Given the description of an element on the screen output the (x, y) to click on. 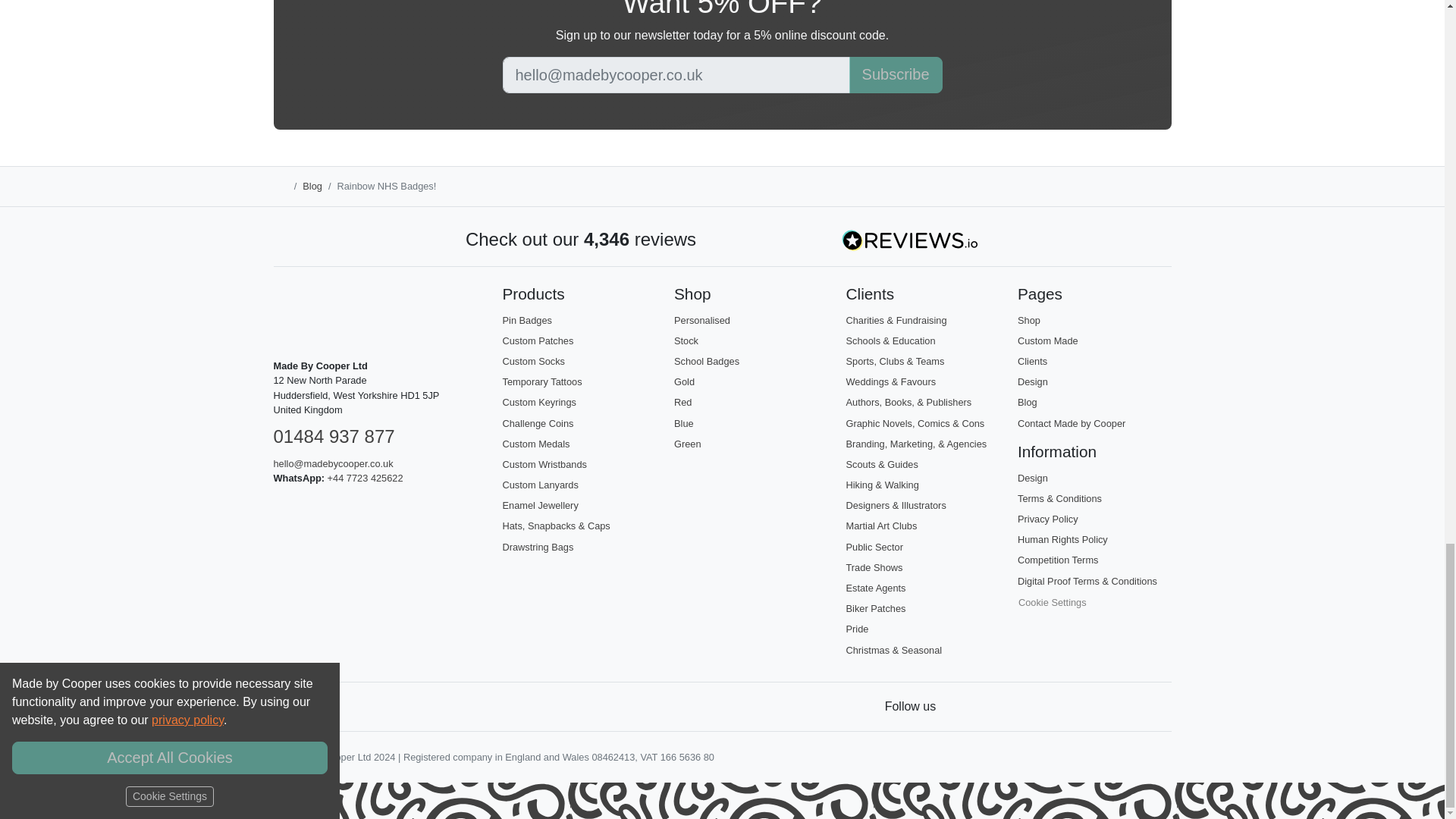
Home (279, 185)
Visa Icon (319, 706)
Mastercard Icon (352, 706)
Pin Badges (526, 319)
X formally known as Twitter (962, 706)
Stripe Payments Icon (285, 706)
American Express Icon (386, 706)
Subscribe (895, 74)
Made By Cooper Logo (303, 316)
Blog (311, 185)
